Given the description of an element on the screen output the (x, y) to click on. 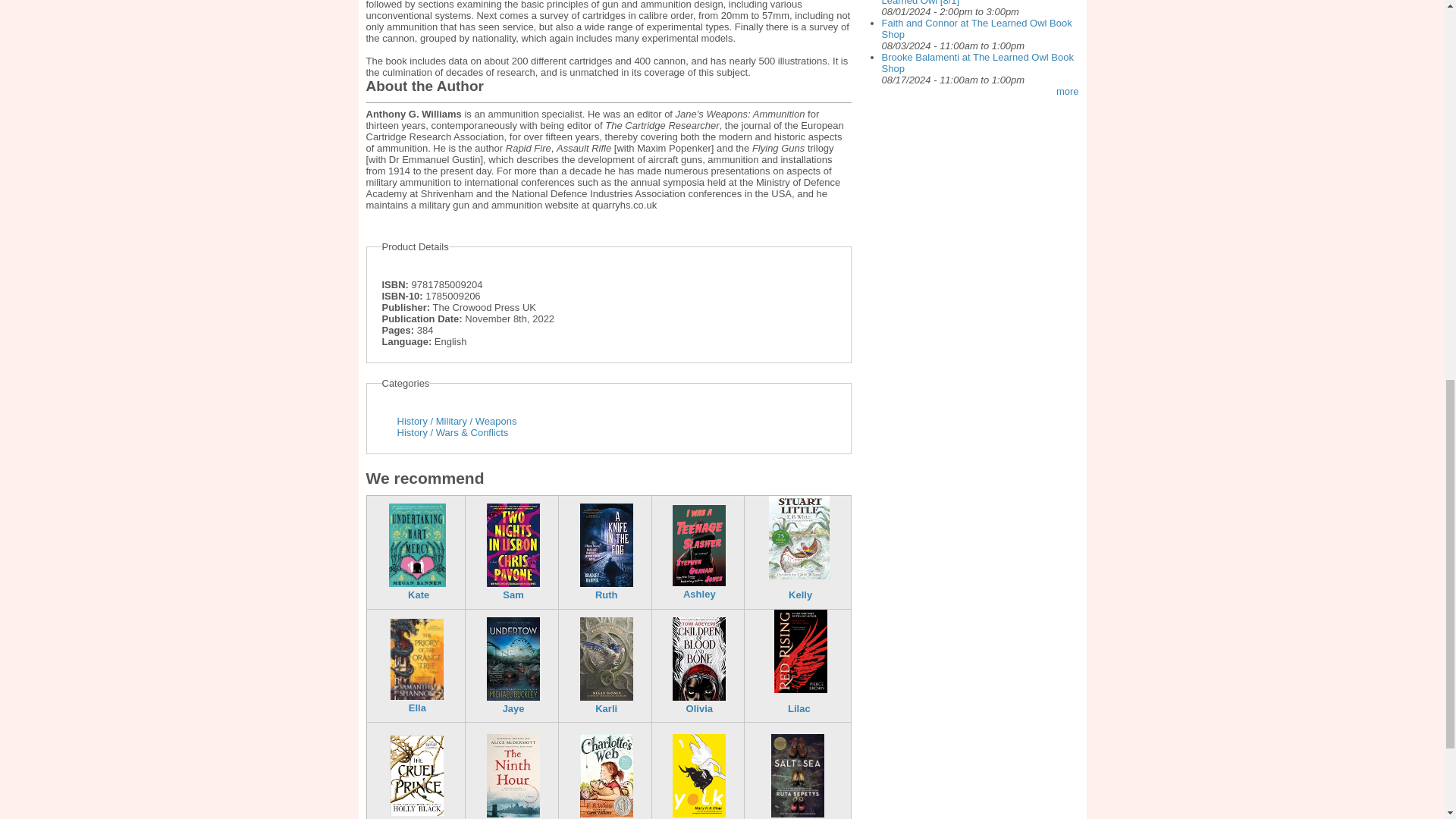
Jaye (513, 708)
Ruth (606, 594)
Ashley (699, 593)
Lilac (798, 708)
Sam (512, 594)
Olivia (699, 708)
Kate (418, 594)
Ella (417, 707)
Kelly (800, 594)
Karli (606, 708)
